Given the description of an element on the screen output the (x, y) to click on. 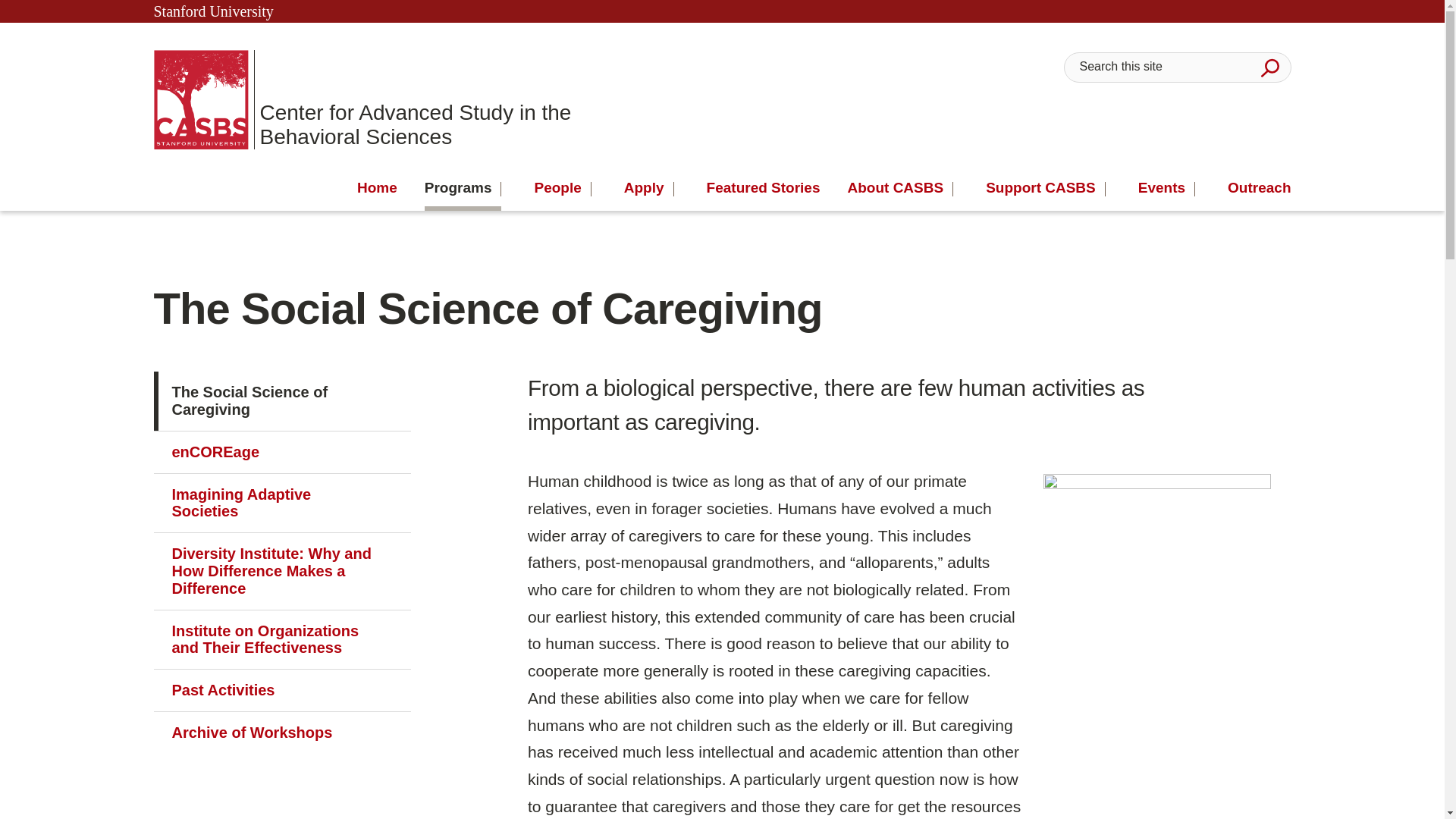
Home (376, 188)
Programs (463, 188)
Featured Stories (763, 188)
Apply (649, 188)
Submit Search (1269, 67)
About CASBS (900, 188)
Featured Stories (763, 188)
Center for Advanced Study in the Behavioral Sciences (382, 99)
People (562, 188)
